Given the description of an element on the screen output the (x, y) to click on. 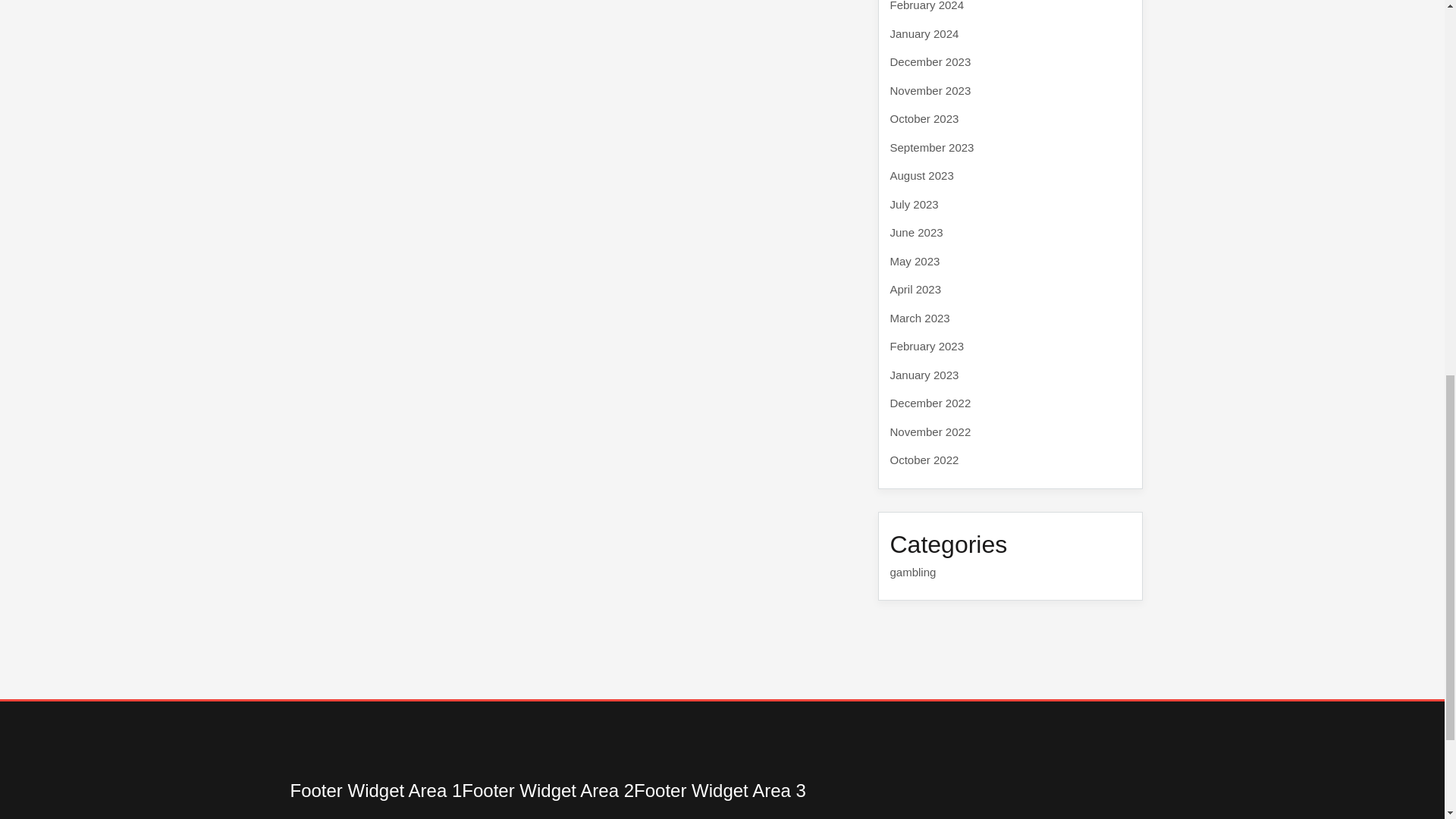
October 2022 (924, 459)
May 2023 (914, 260)
June 2023 (916, 232)
January 2024 (924, 33)
September 2023 (931, 146)
December 2022 (930, 402)
November 2023 (930, 89)
July 2023 (914, 203)
October 2023 (924, 118)
March 2023 (919, 317)
February 2024 (926, 5)
gambling (912, 571)
January 2023 (924, 374)
November 2022 (930, 431)
February 2023 (926, 345)
